Given the description of an element on the screen output the (x, y) to click on. 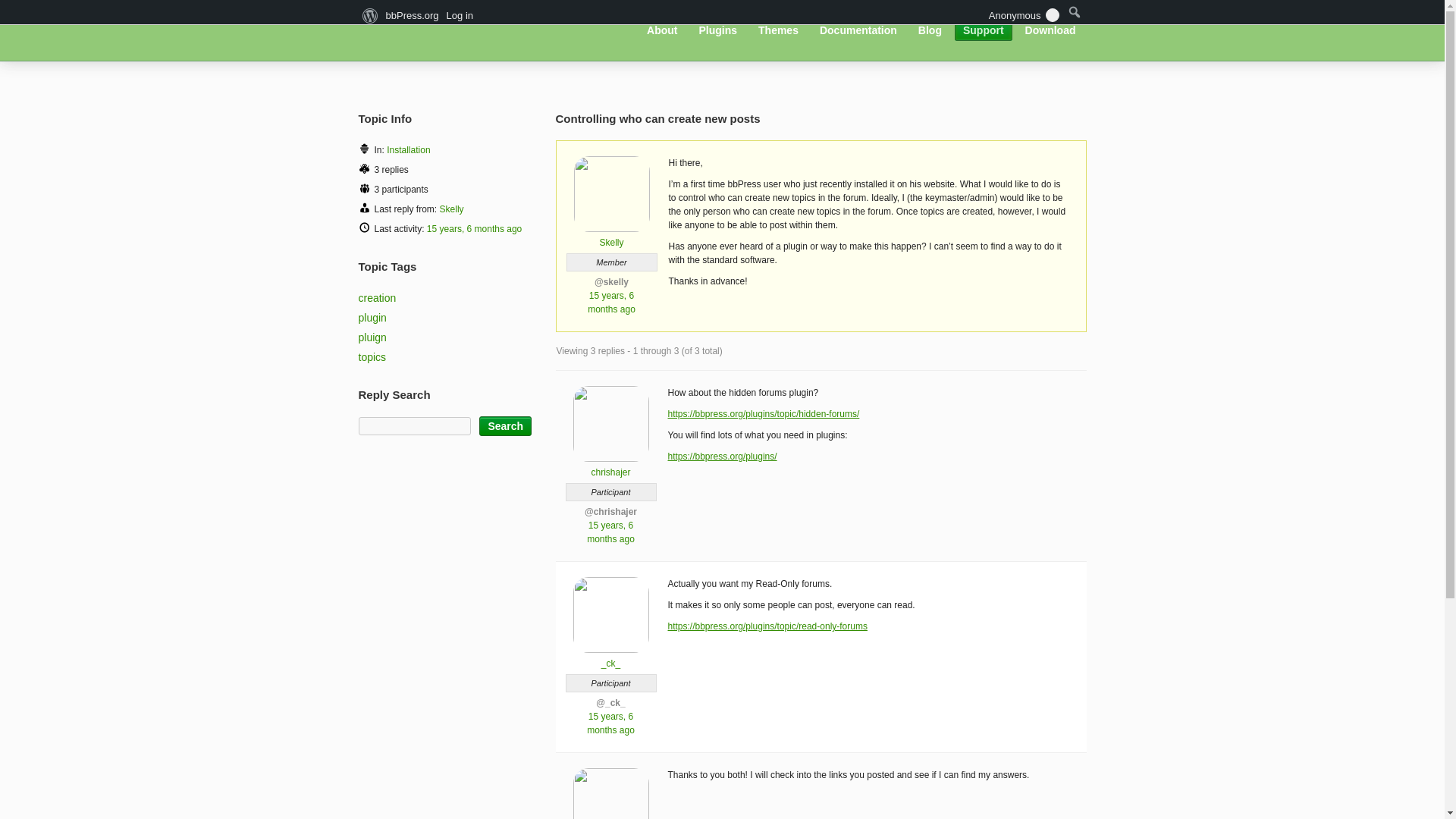
pluign (371, 337)
About (662, 29)
Skelly (611, 236)
Skelly (451, 208)
Download (1050, 29)
bbPress.org (441, 29)
Plugins (717, 29)
Search (505, 425)
Themes (777, 29)
15 years, 6 months ago (610, 532)
Installation (408, 149)
15 years, 6 months ago (611, 302)
Blog (930, 29)
Search (505, 425)
Support (983, 29)
